Given the description of an element on the screen output the (x, y) to click on. 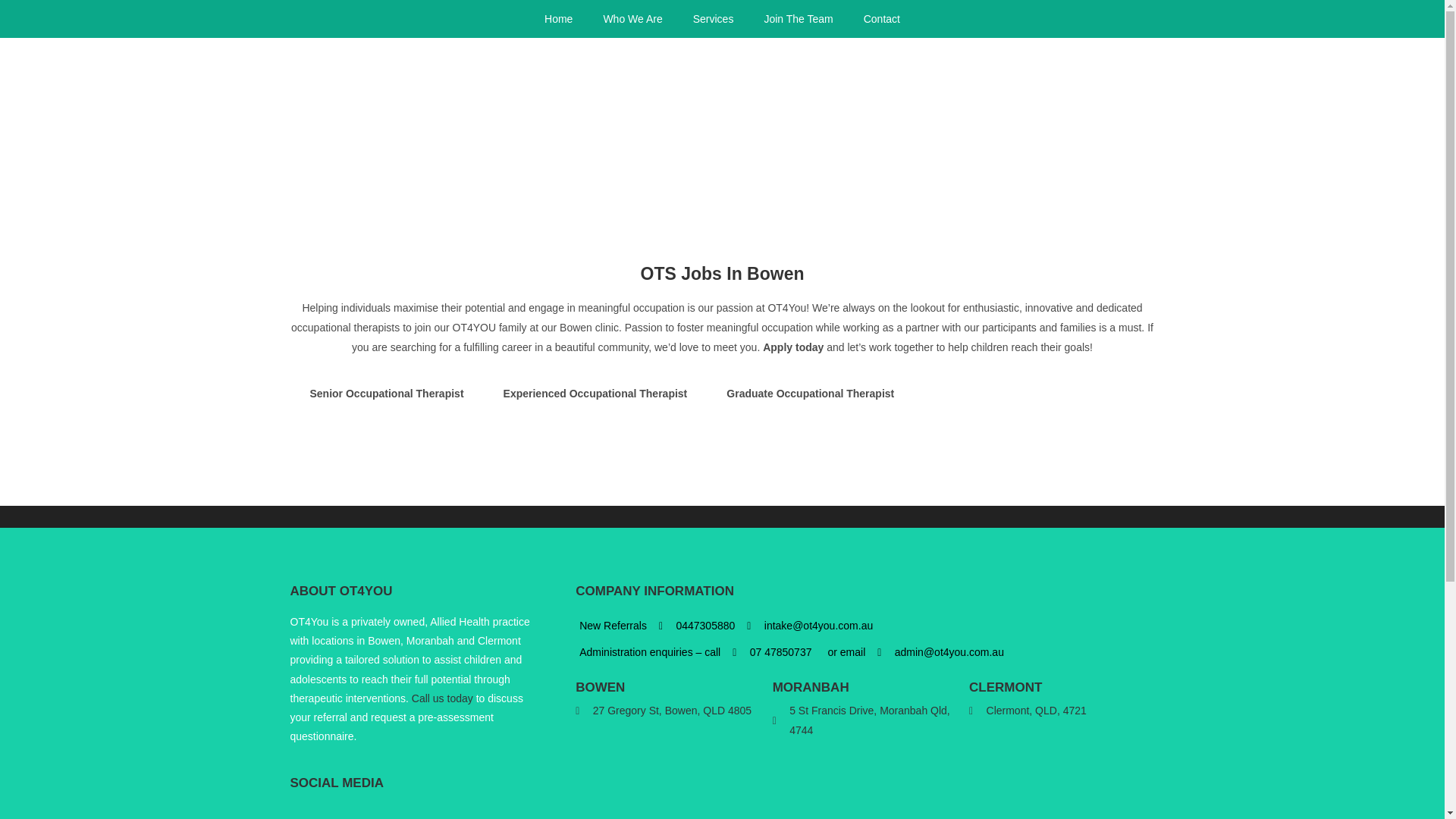
Who We Are (632, 18)
Find Us On Facebook (301, 813)
Find Us On LinkedIn (363, 813)
www.localsearch.com.au (332, 813)
I Heart NDIS (527, 110)
27 Gregory St, Bowen, QLD 4805 (667, 773)
Services (713, 18)
Home (558, 18)
5 St Francis Drive, Moranbah Qld (865, 783)
Join The Team (797, 18)
